Given the description of an element on the screen output the (x, y) to click on. 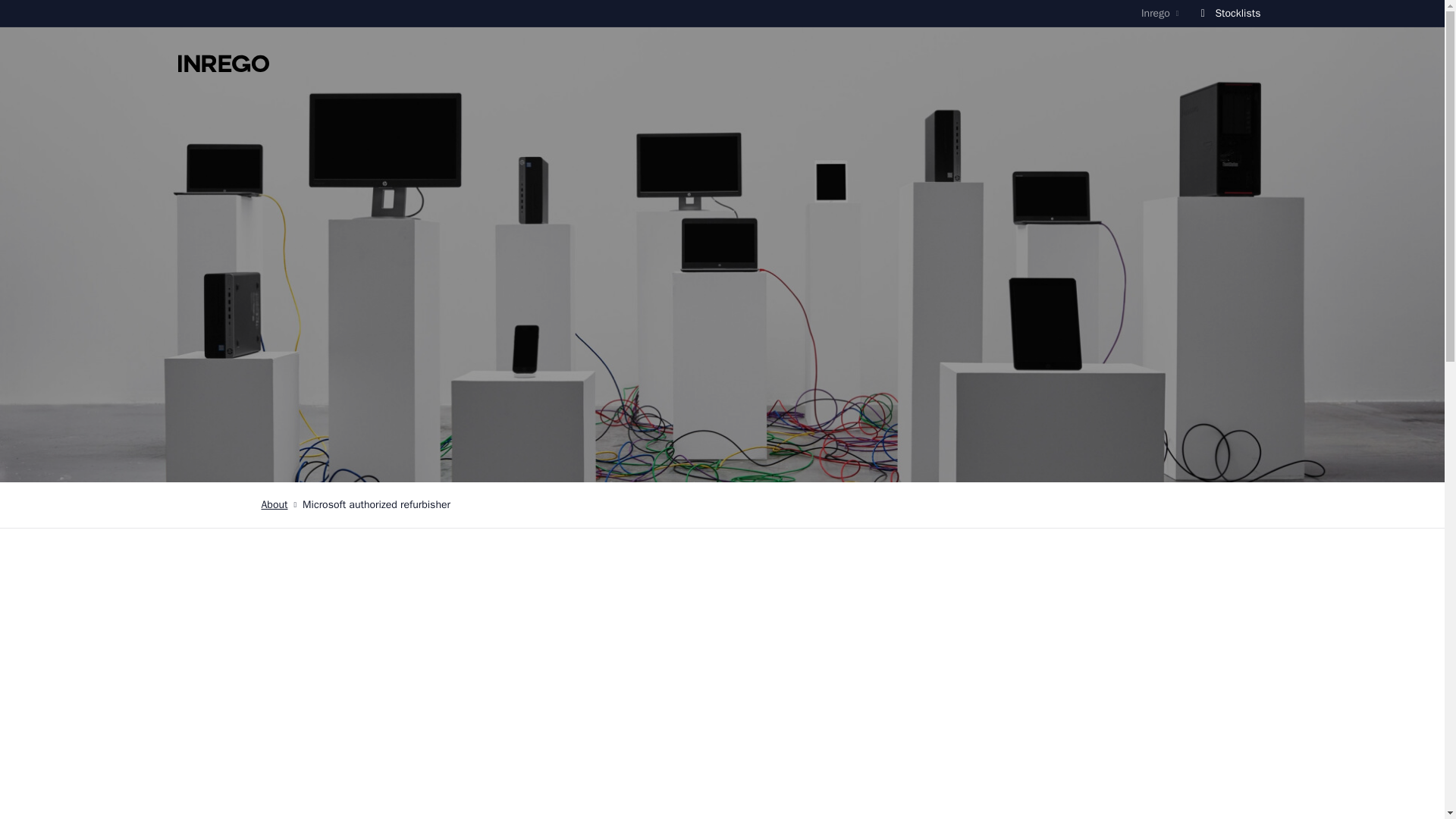
Stocklists (1228, 12)
Inrego (222, 63)
Inrego (1160, 13)
Microsoft authorized refurbisher (375, 504)
About (273, 504)
